Given the description of an element on the screen output the (x, y) to click on. 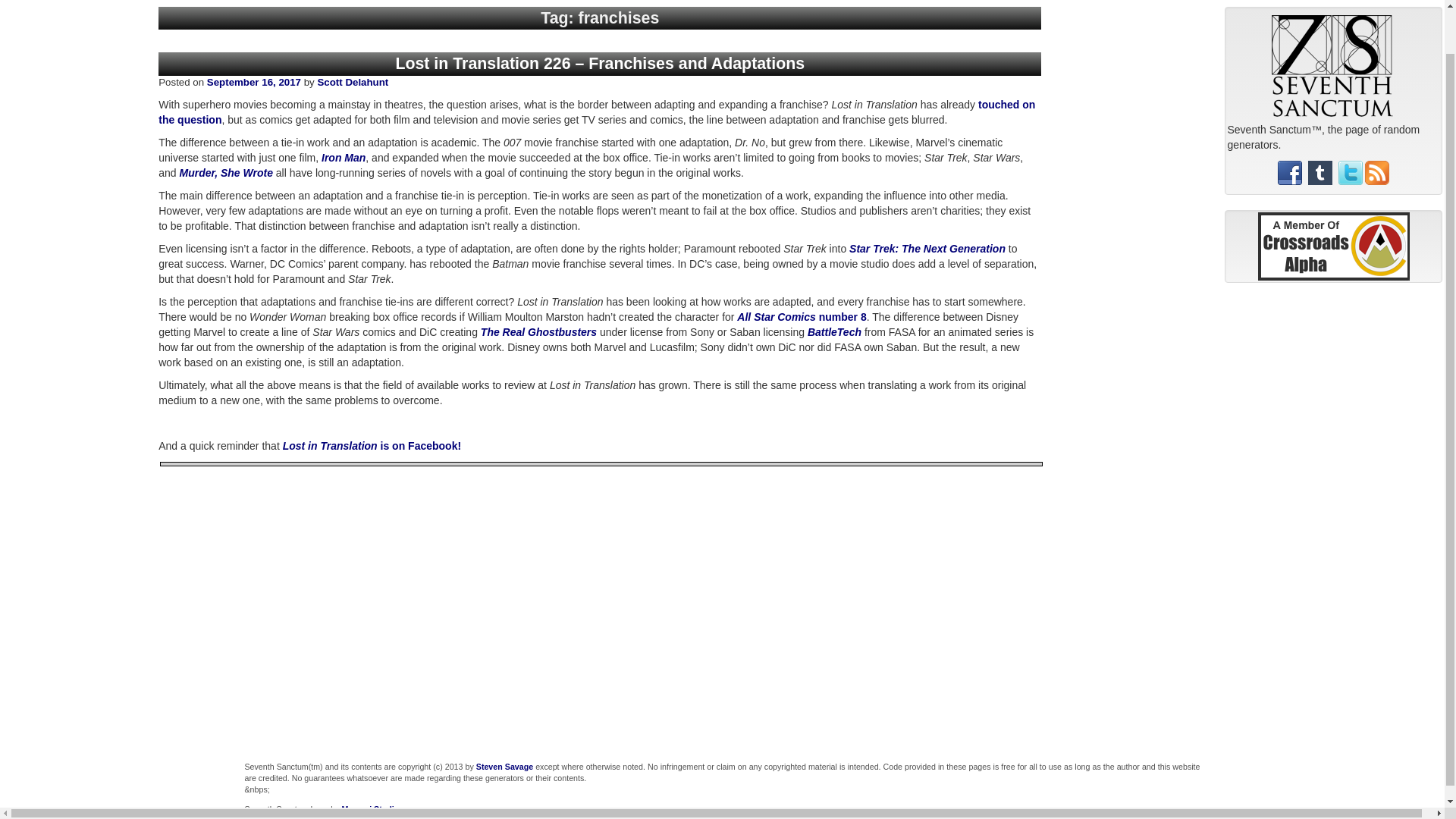
Murder, She Wrote (225, 173)
Iron Man (343, 157)
Scott Delahunt (352, 81)
View all posts by Scott Delahunt (352, 81)
September 16, 2017 (253, 81)
touched on the question (596, 112)
